Given the description of an element on the screen output the (x, y) to click on. 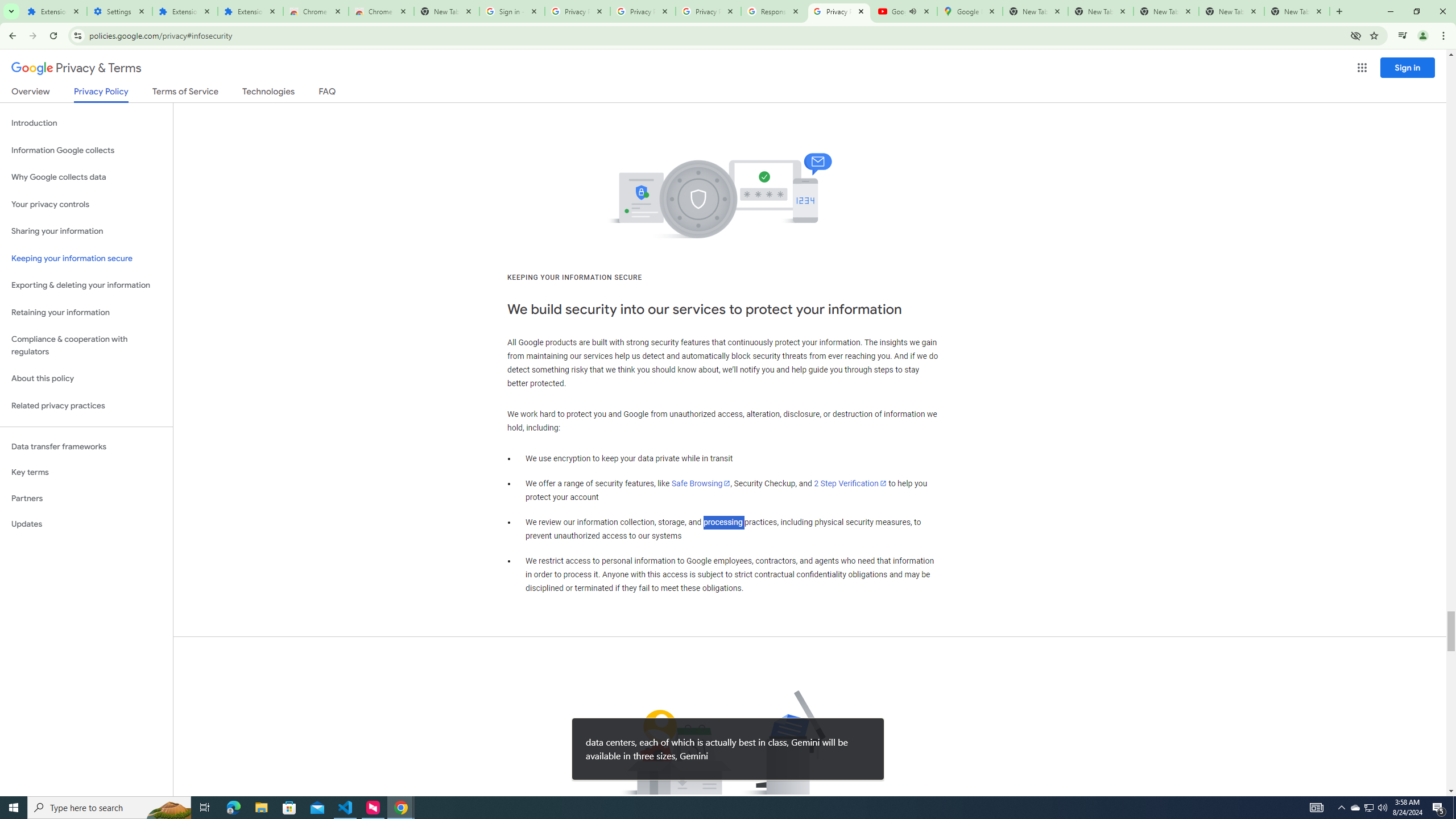
Sign in - Google Accounts (512, 11)
Related privacy practices (86, 405)
